Given the description of an element on the screen output the (x, y) to click on. 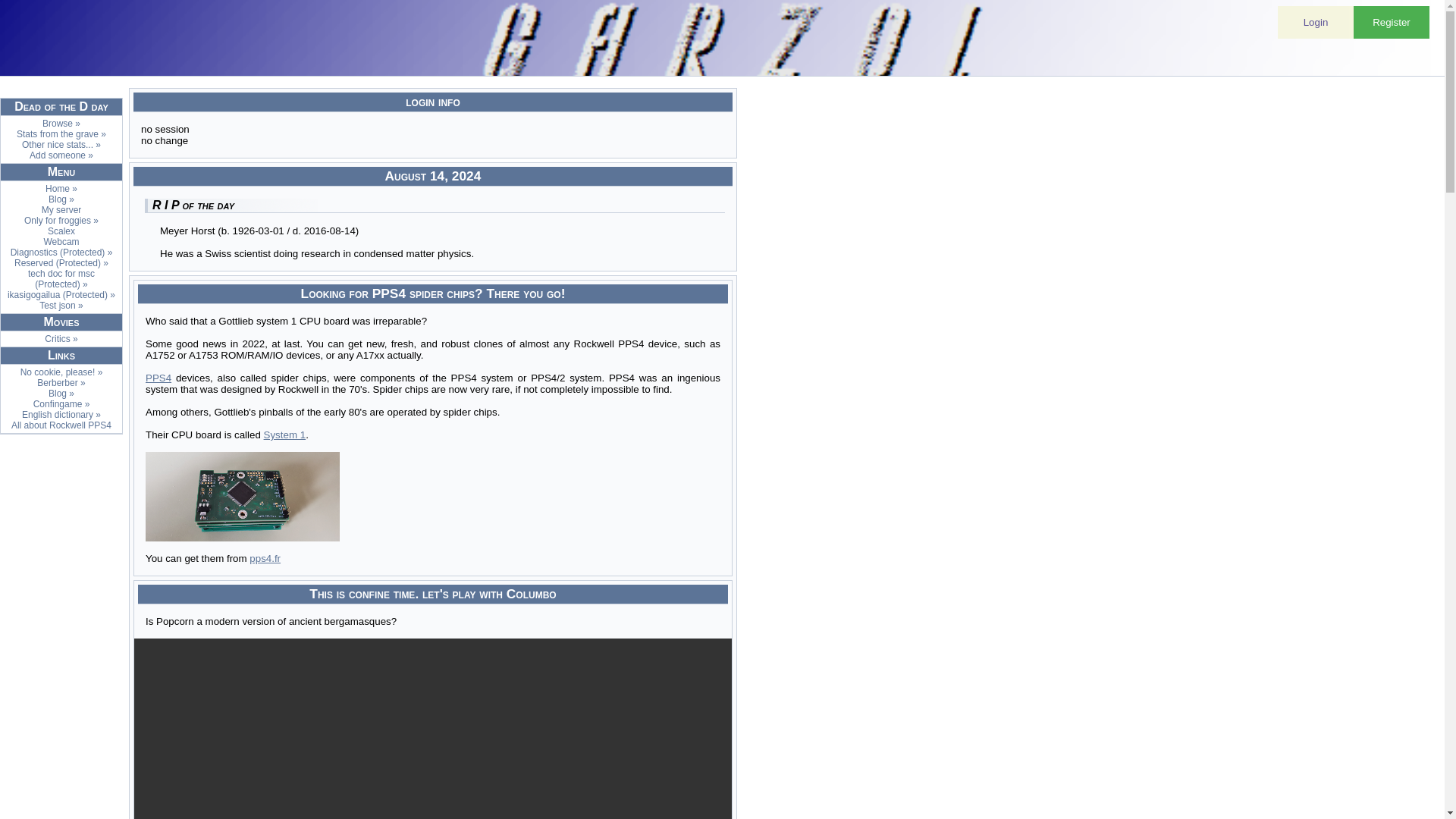
tech doc for msc (60, 278)
pps4.fr (264, 558)
Scalex (60, 231)
System 1 (284, 434)
Home (60, 188)
add a dead in the database (60, 154)
get the complete list... (60, 122)
Login (1316, 21)
Blog (60, 199)
Add someone (60, 154)
